Given the description of an element on the screen output the (x, y) to click on. 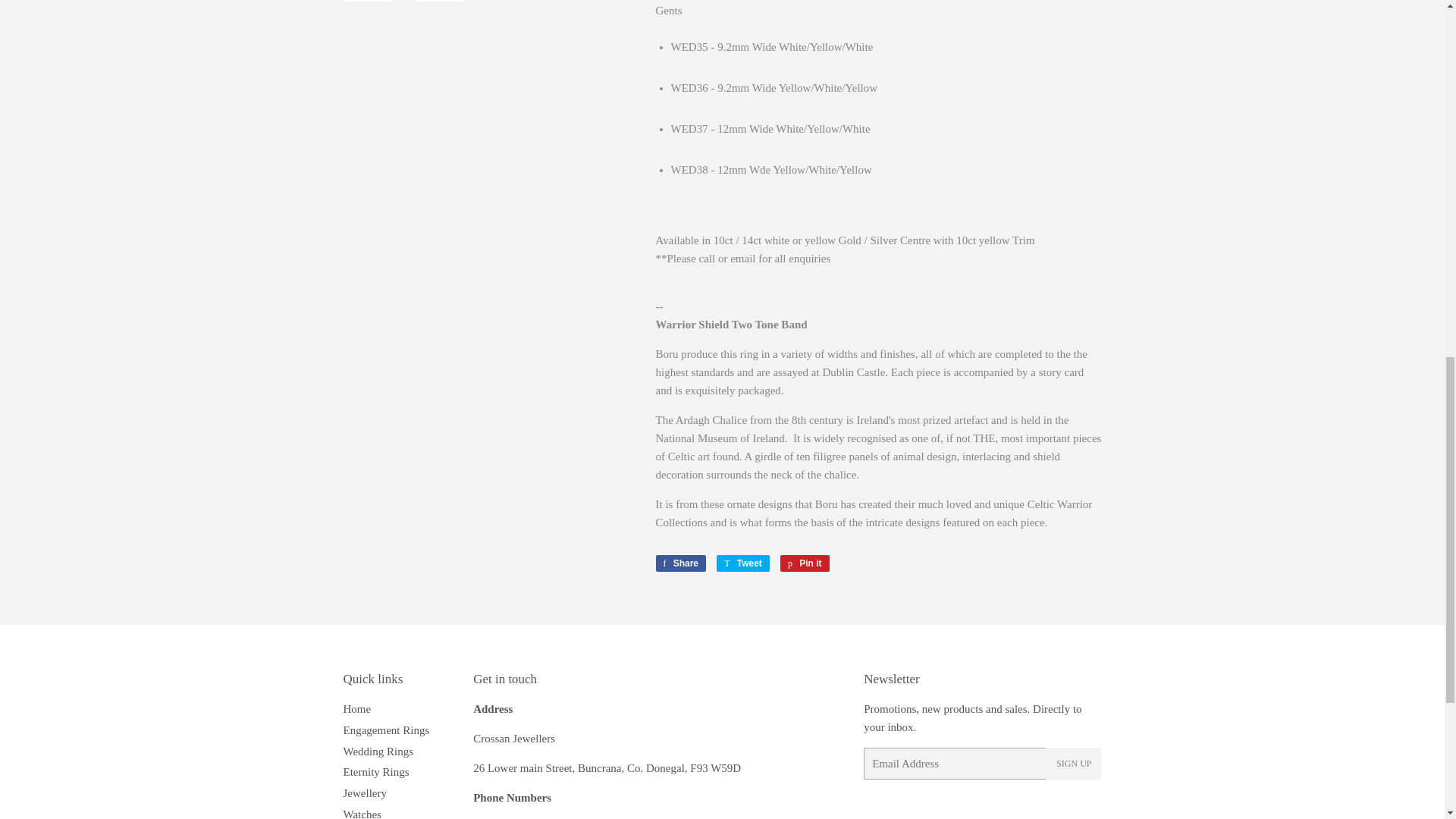
Share on Facebook (680, 563)
Tweet on Twitter (743, 563)
Pin on Pinterest (804, 563)
